Given the description of an element on the screen output the (x, y) to click on. 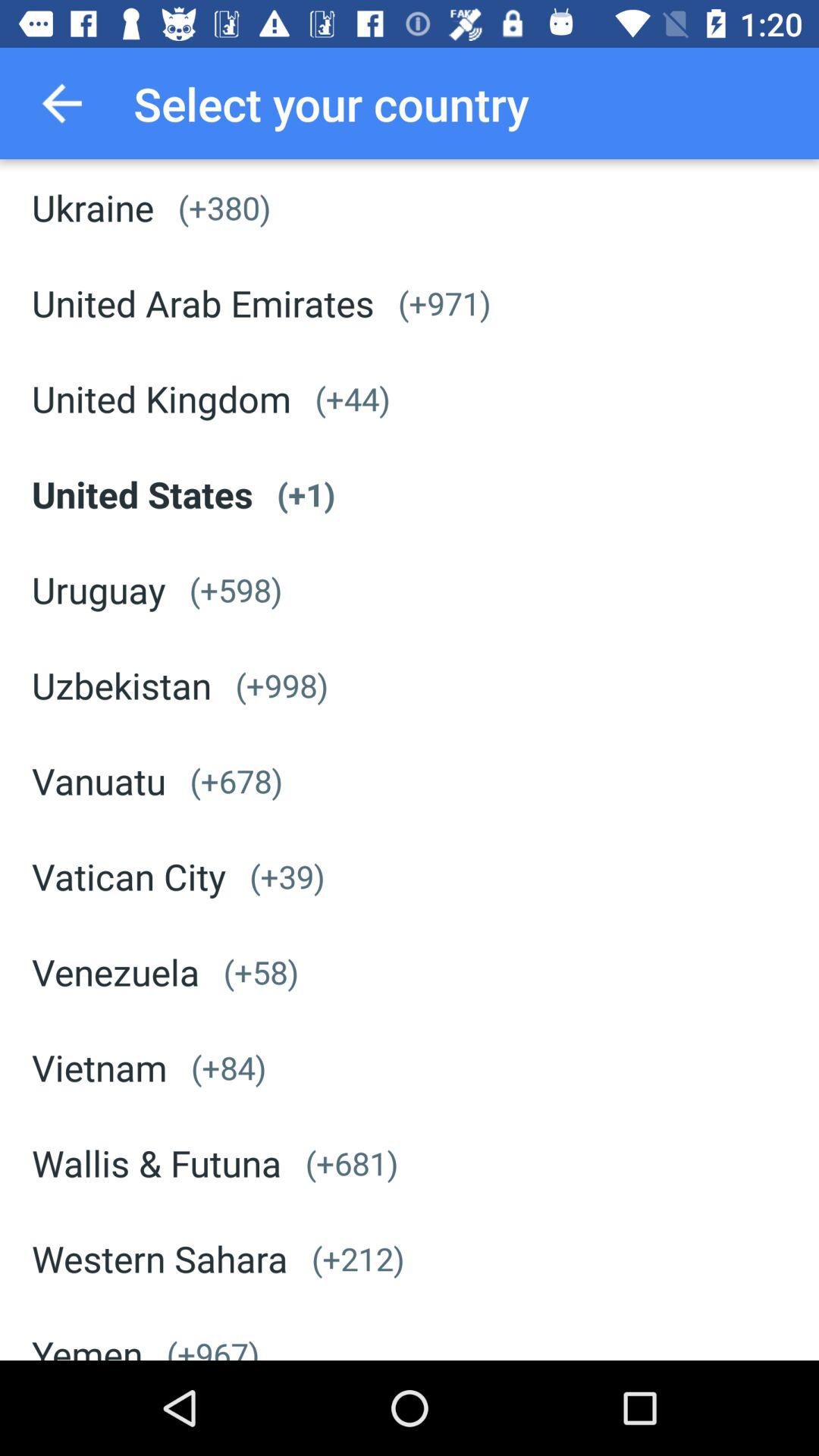
click the icon below united kingdom (142, 493)
